Given the description of an element on the screen output the (x, y) to click on. 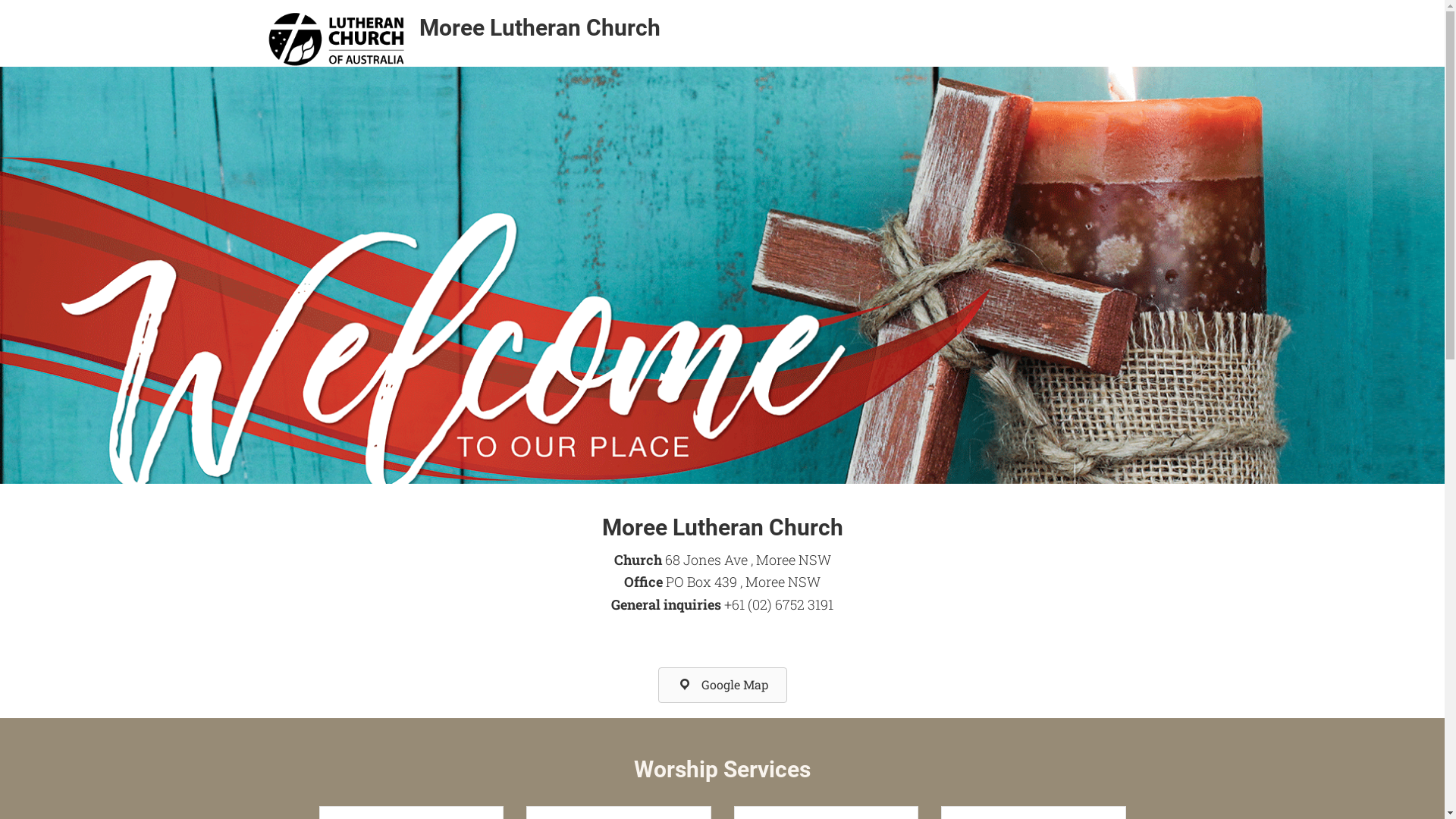
Skip to main content Element type: text (0, 0)
Google Map Element type: text (722, 684)
